Given the description of an element on the screen output the (x, y) to click on. 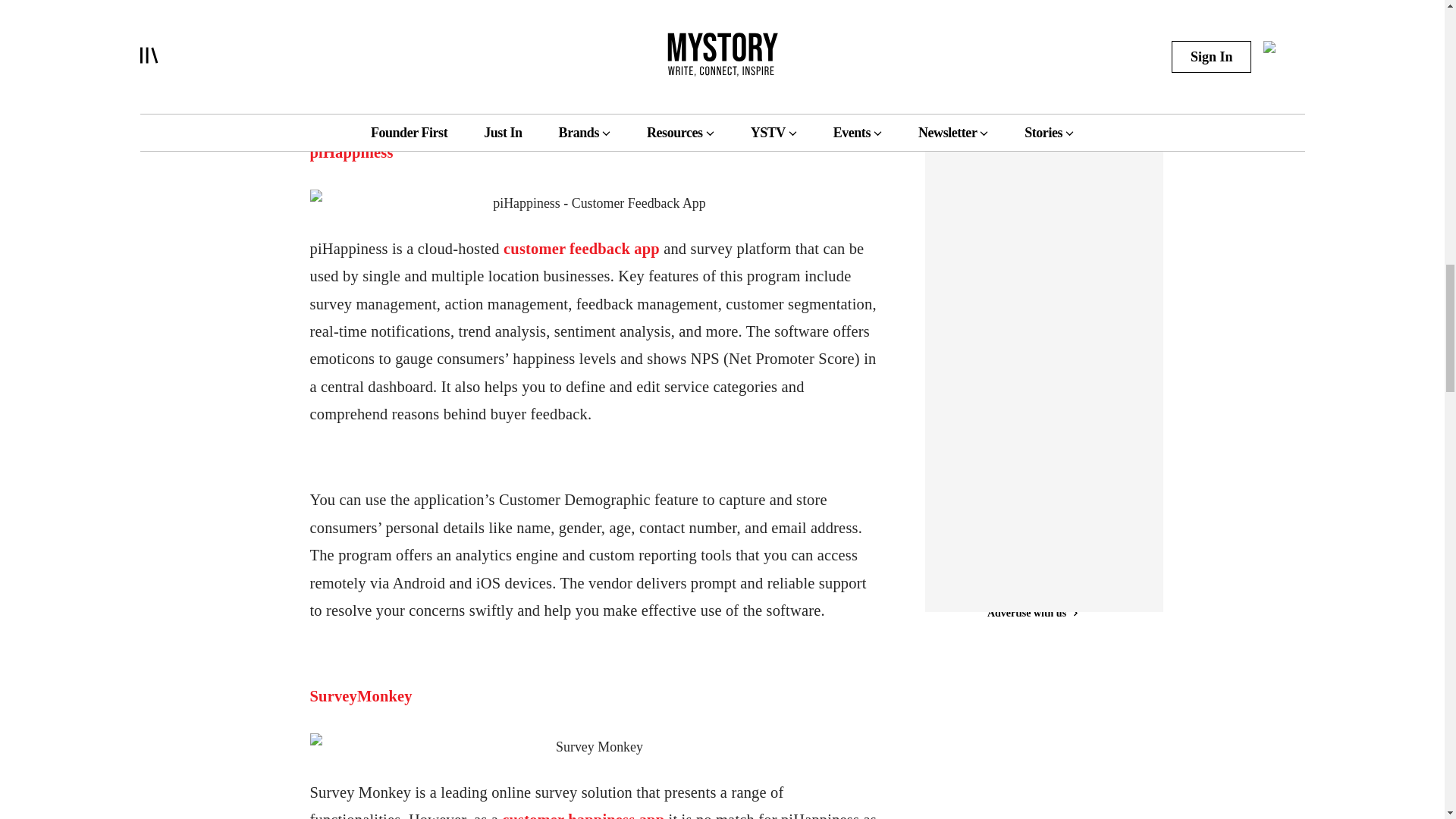
piHappiness (350, 152)
customer feedback app (581, 248)
SurveyMonkey (360, 695)
customer happiness app (582, 815)
